Given the description of an element on the screen output the (x, y) to click on. 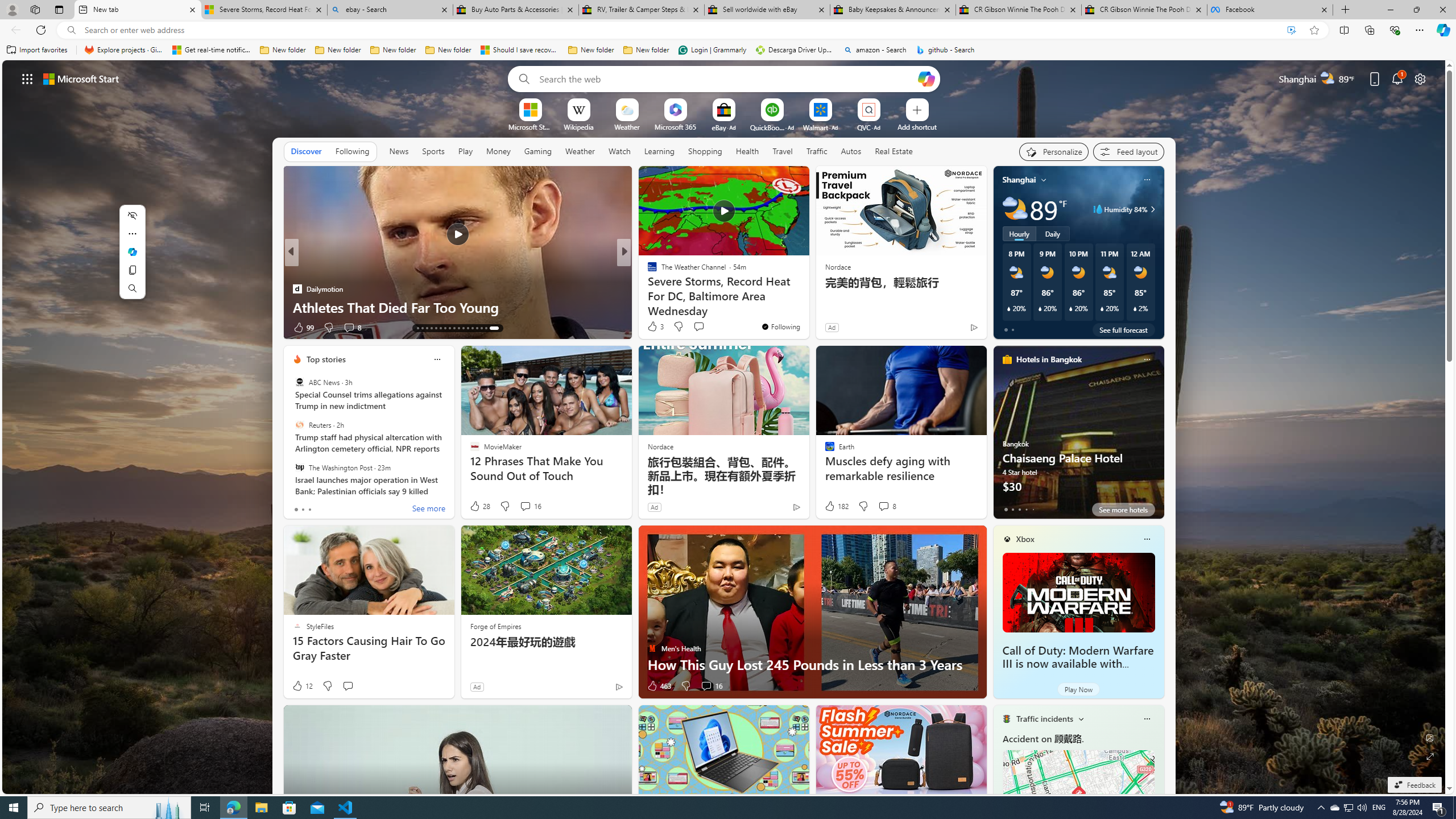
Page settings (1420, 78)
Hide this story (774, 179)
99 Like (652, 327)
Autos (851, 151)
Traffic (816, 151)
View comments 1 Comment (705, 327)
Forge of Empires (495, 625)
Money (497, 151)
Play (465, 151)
Enter your search term (726, 78)
To get missing image descriptions, open the context menu. (529, 109)
Lonely dolphin may be behind series of attacks on swimmers (807, 298)
